Given the description of an element on the screen output the (x, y) to click on. 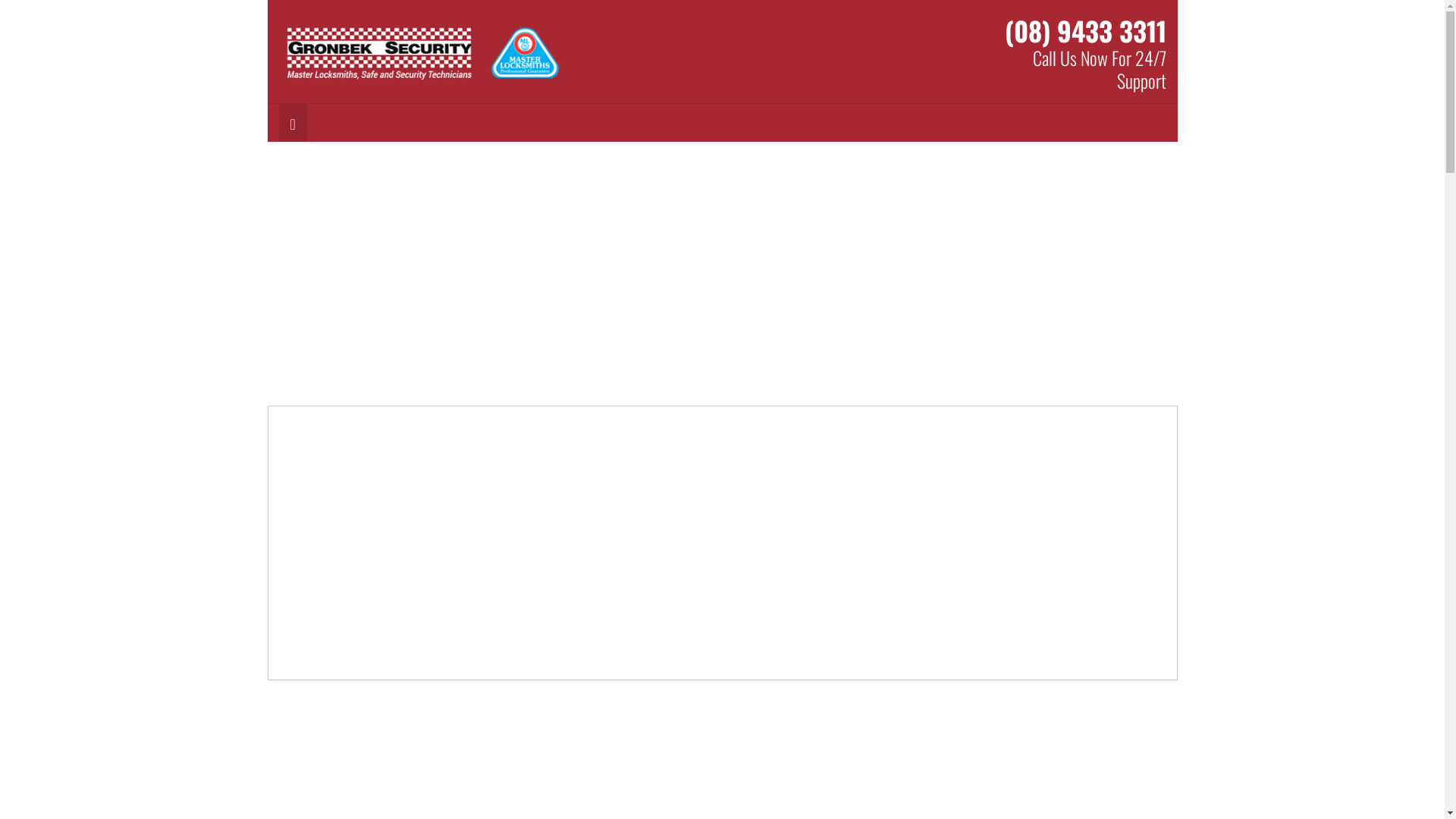
(08) 9433 3311 Element type: text (1084, 30)
Menu Element type: hover (293, 122)
Gronbek Security Element type: hover (422, 53)
